Given the description of an element on the screen output the (x, y) to click on. 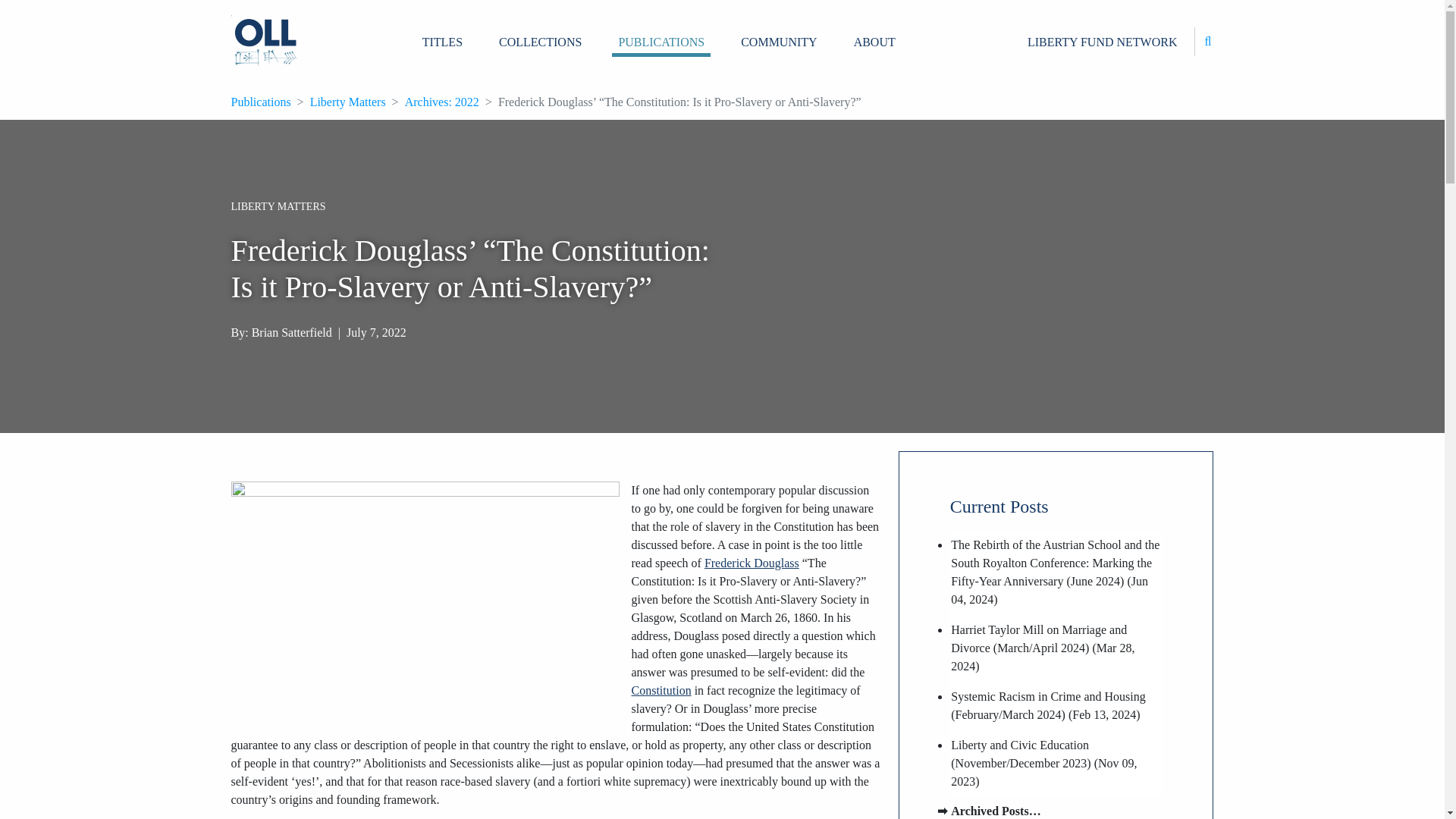
TITLES (442, 42)
Frederick Douglass (751, 562)
ABOUT (874, 42)
Constitution (660, 689)
Brian Satterfield (291, 332)
PUBLICATIONS (660, 41)
Publications (259, 101)
COLLECTIONS (540, 42)
COMMUNITY (778, 42)
LIBERTY FUND NETWORK (1102, 42)
Liberty Matters (347, 101)
Archives: 2022 (441, 101)
